Given the description of an element on the screen output the (x, y) to click on. 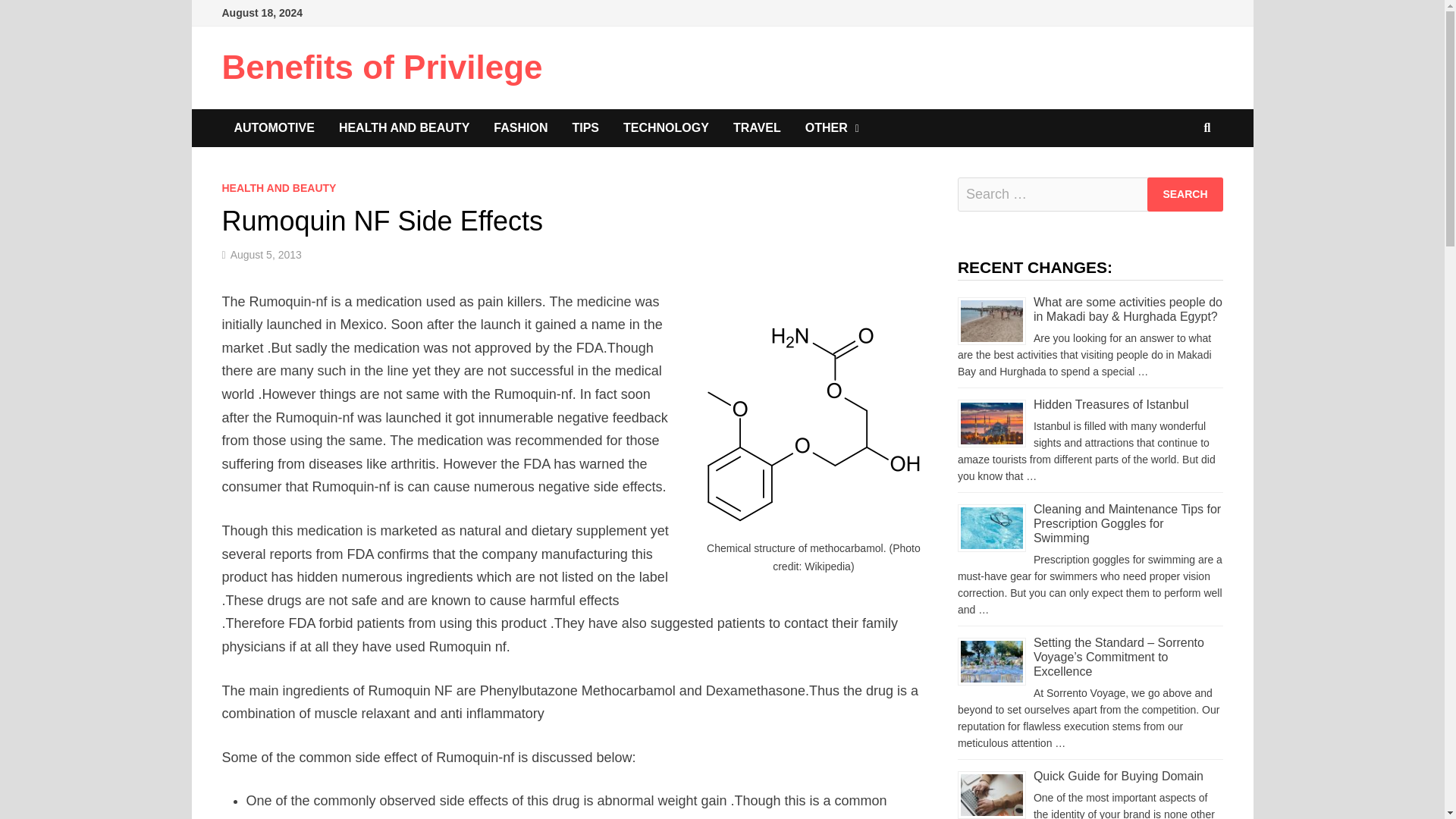
Search (1185, 194)
OTHER (831, 127)
HEALTH AND BEAUTY (403, 127)
Search (1185, 194)
FASHION (520, 127)
TECHNOLOGY (665, 127)
TRAVEL (756, 127)
TIPS (585, 127)
AUTOMOTIVE (273, 127)
Benefits of Privilege (381, 66)
